Given the description of an element on the screen output the (x, y) to click on. 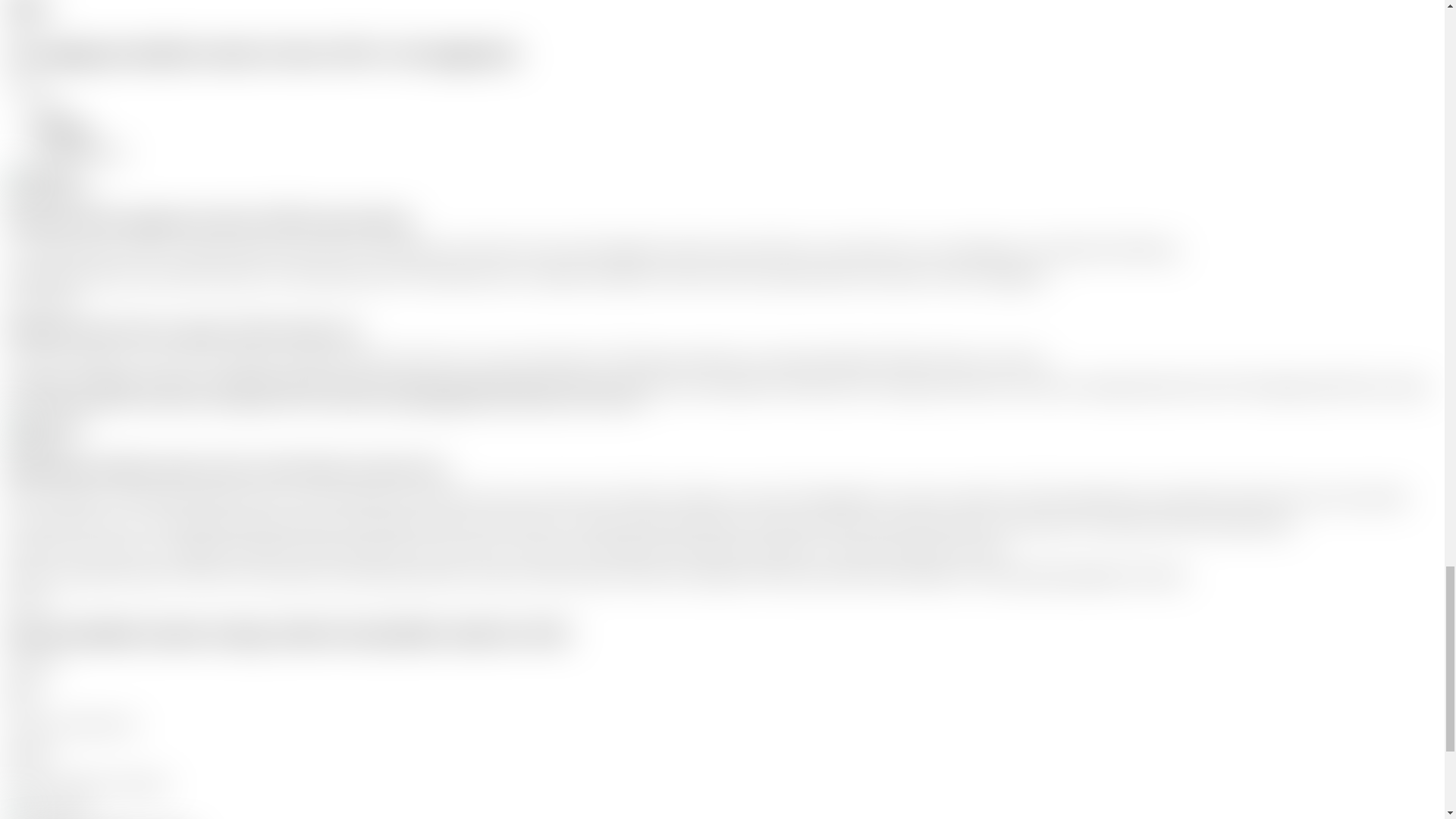
CHALLENGE (41, 300)
BACKGROUND (48, 191)
About (30, 6)
APPROACH (20, 20)
IMPACTS (37, 439)
RESULT (31, 665)
Services (27, 600)
